Given the description of an element on the screen output the (x, y) to click on. 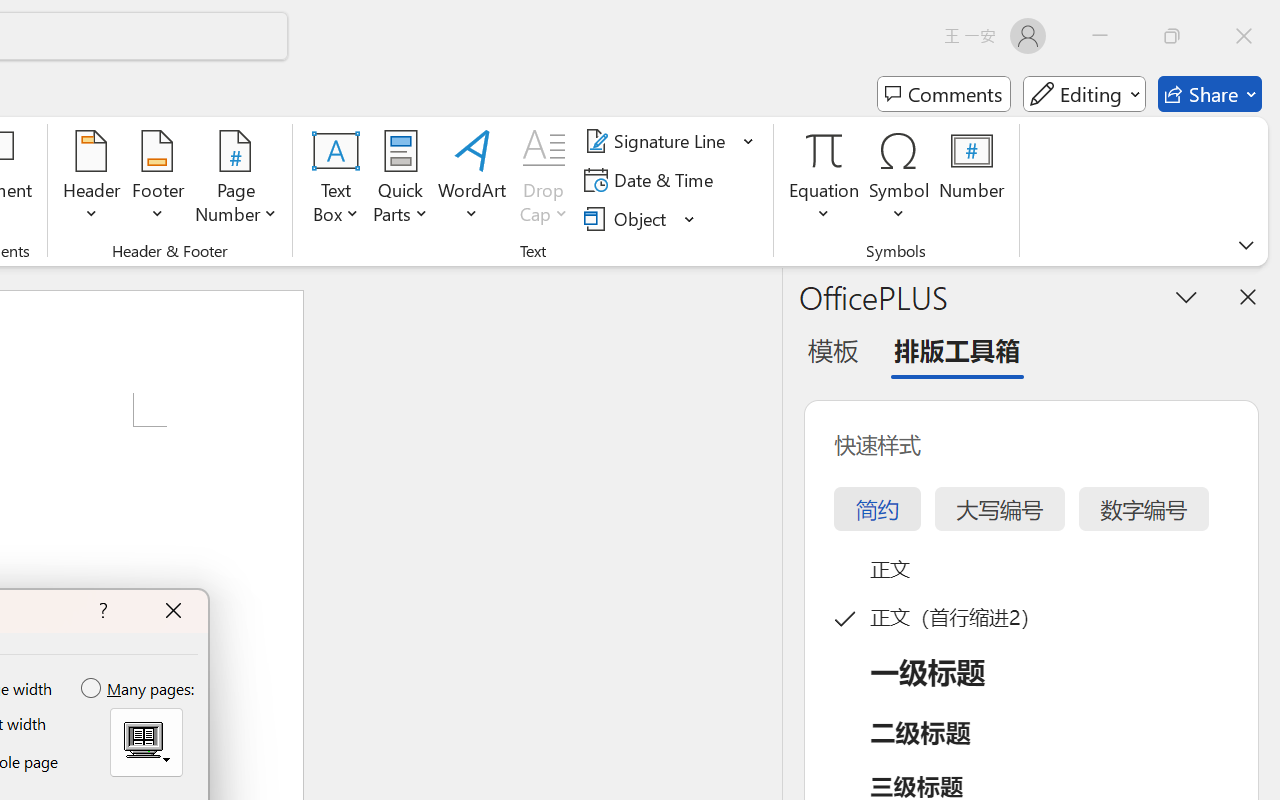
Symbol (899, 179)
Signature Line (658, 141)
Object... (640, 218)
WordArt (472, 179)
Equation (823, 150)
Date & Time... (651, 179)
Signature Line (669, 141)
